Given the description of an element on the screen output the (x, y) to click on. 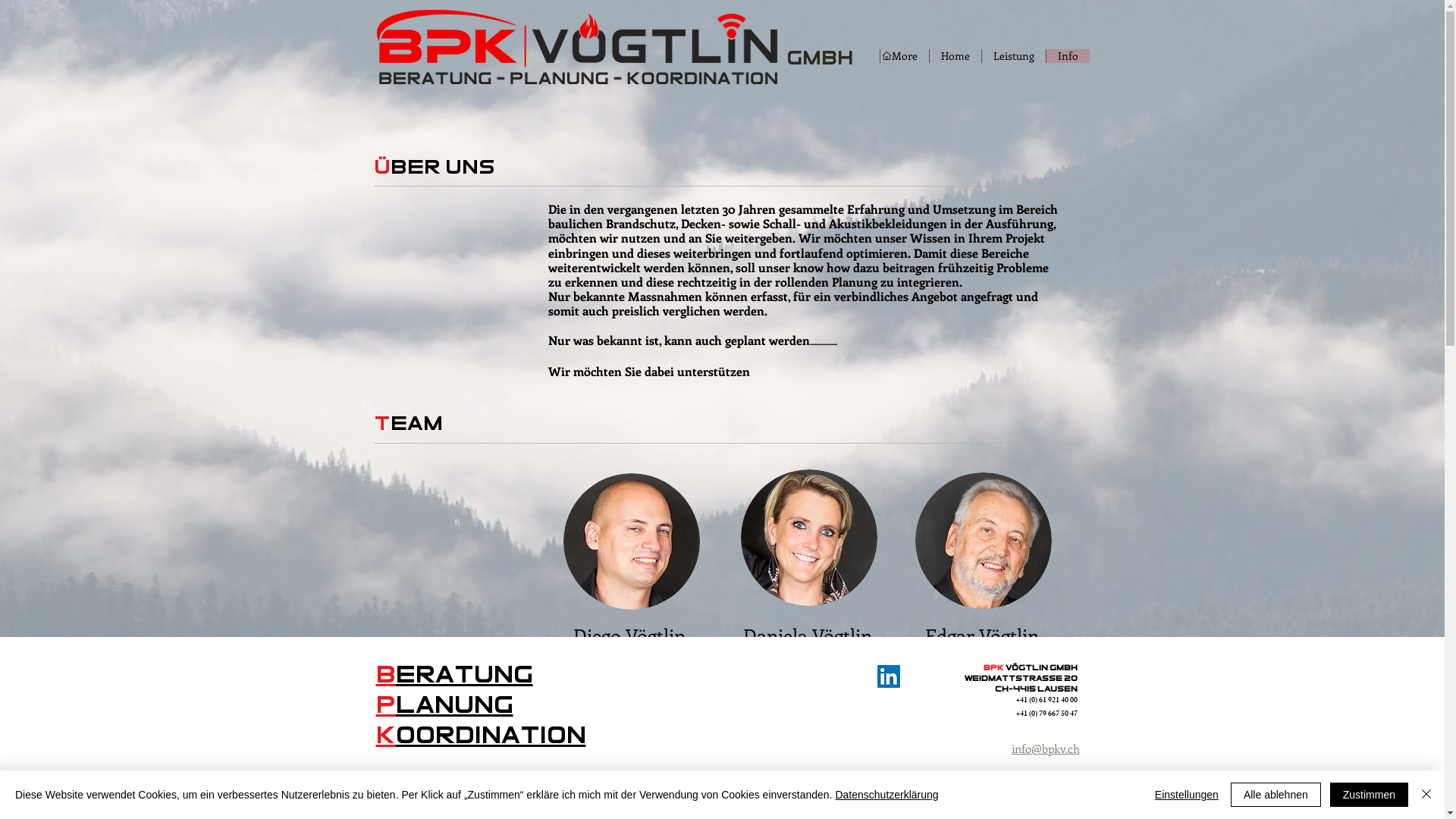
info@bpkv.ch Element type: text (1045, 749)
Home Element type: text (954, 55)
Zustimmen Element type: text (1369, 794)
Info Element type: text (1066, 55)
Alle ablehnen Element type: text (1275, 794)
Impressum Element type: text (1050, 776)
Datenschutzrichtlinie Element type: text (1025, 811)
Leistung Element type: text (1013, 55)
